Given the description of an element on the screen output the (x, y) to click on. 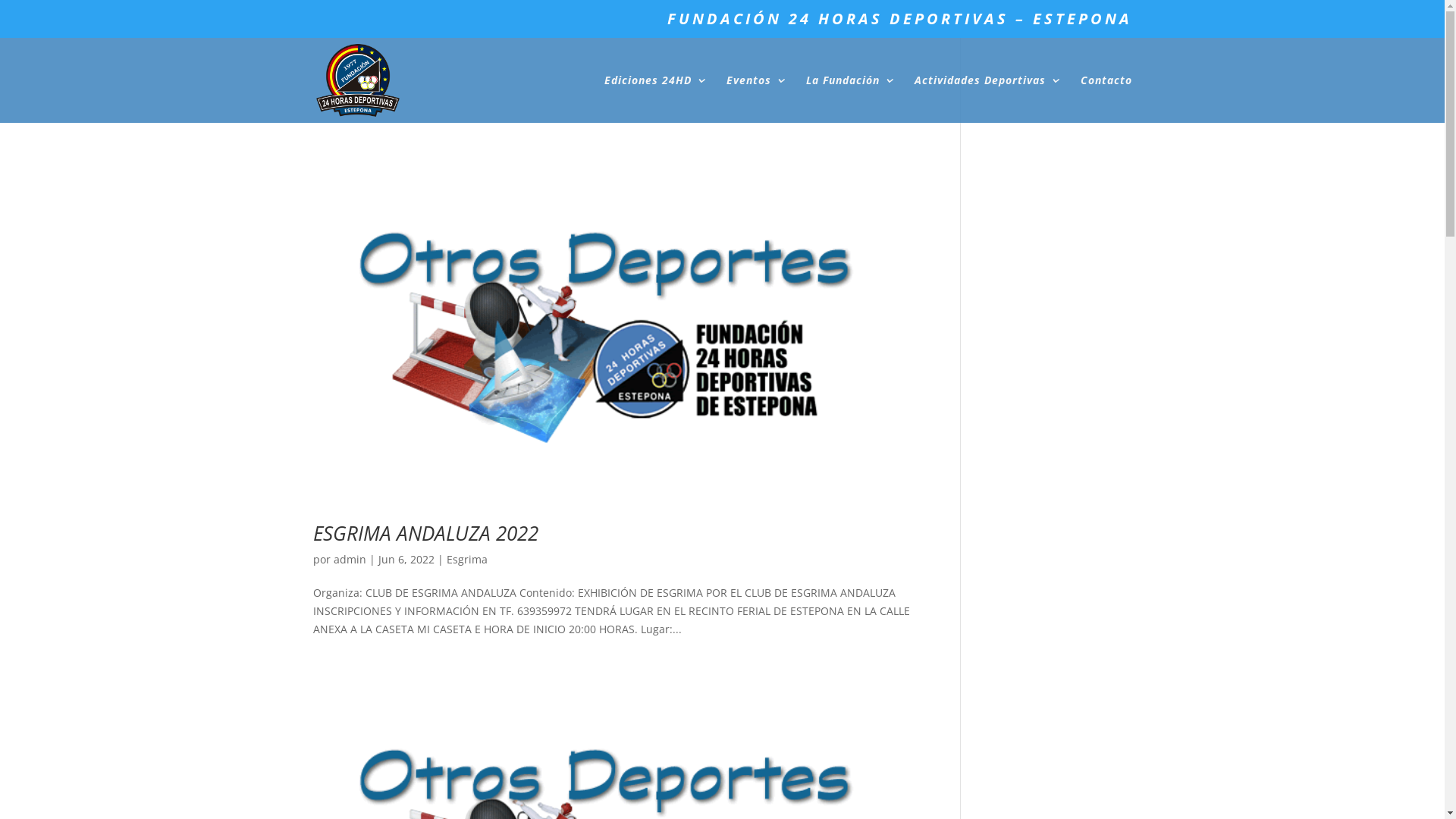
admin Element type: text (349, 559)
Eventos Element type: text (756, 98)
Contacto Element type: text (1105, 98)
ESGRIMA ANDALUZA 2022 Element type: text (424, 532)
Actividades Deportivas Element type: text (987, 98)
Ediciones 24HD Element type: text (654, 98)
Esgrima Element type: text (465, 559)
